Given the description of an element on the screen output the (x, y) to click on. 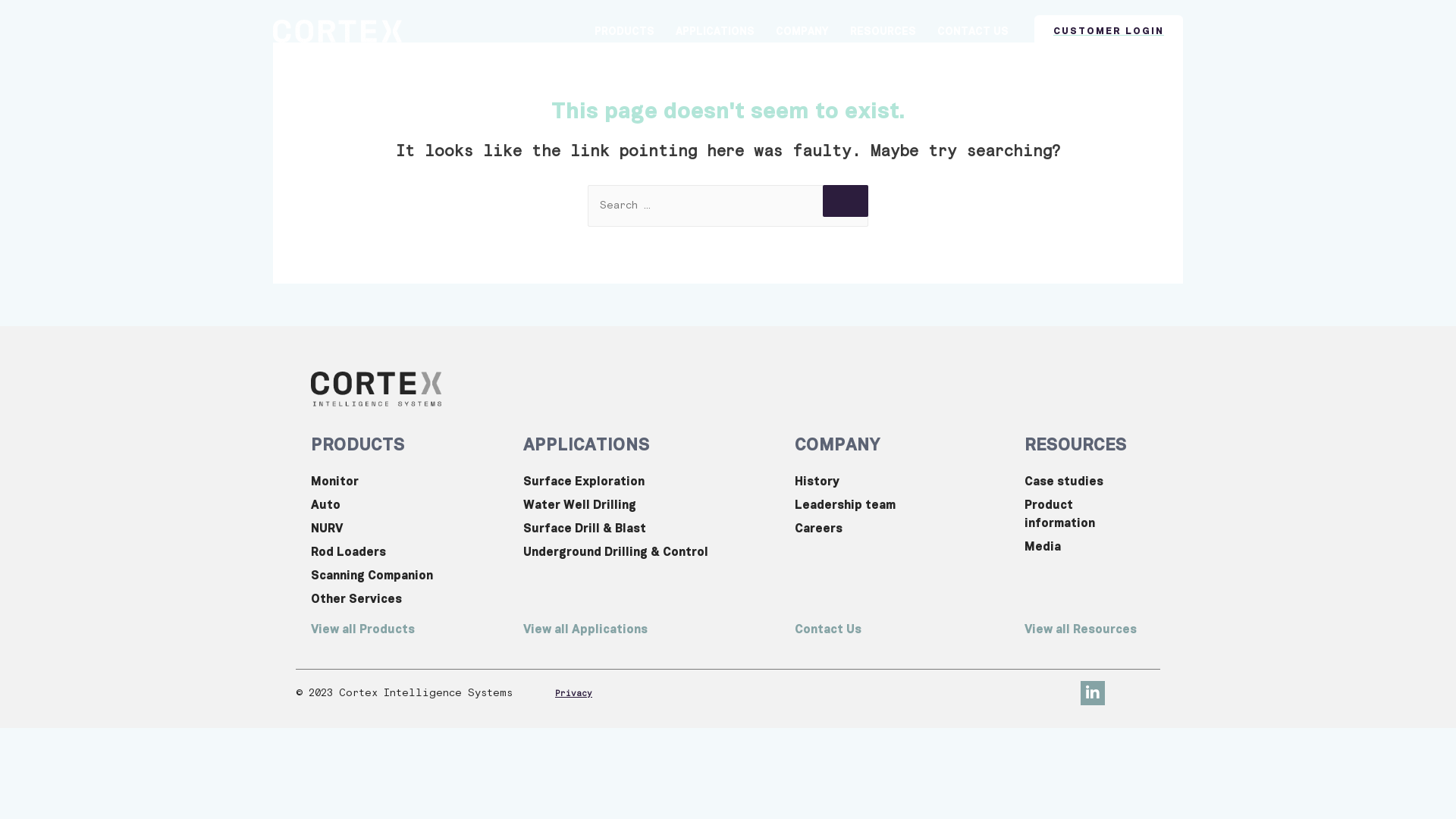
PRODUCTS Element type: text (624, 31)
Product information Element type: text (1084, 513)
RESOURCES Element type: text (882, 31)
Careers Element type: text (901, 528)
Rod Loaders Element type: text (409, 551)
View all Resources Element type: text (1092, 629)
Search Element type: text (845, 200)
NURV Element type: text (409, 528)
Privacy Element type: text (573, 693)
Surface Drill & Blast Element type: text (651, 528)
COMPANY Element type: text (802, 31)
RESOURCES Element type: text (1075, 445)
PRODUCTS Element type: text (357, 445)
Leadership team Element type: text (901, 504)
Auto Element type: text (409, 504)
View all Products Element type: text (416, 629)
Underground Drilling & Control Element type: text (651, 551)
CUSTOMER LOGIN Element type: text (1108, 31)
APPLICATIONS Element type: text (586, 445)
Surface Exploration Element type: text (651, 481)
Media Element type: text (1084, 546)
Case studies Element type: text (1084, 481)
History Element type: text (901, 481)
CONTACT US Element type: text (972, 31)
Scanning Companion Element type: text (409, 575)
Other Services Element type: text (409, 598)
COMPANY Element type: text (837, 445)
Monitor Element type: text (409, 481)
Contact Us Element type: text (908, 629)
Water Well Drilling Element type: text (651, 504)
View all Applications Element type: text (658, 629)
APPLICATIONS Element type: text (715, 31)
